Given the description of an element on the screen output the (x, y) to click on. 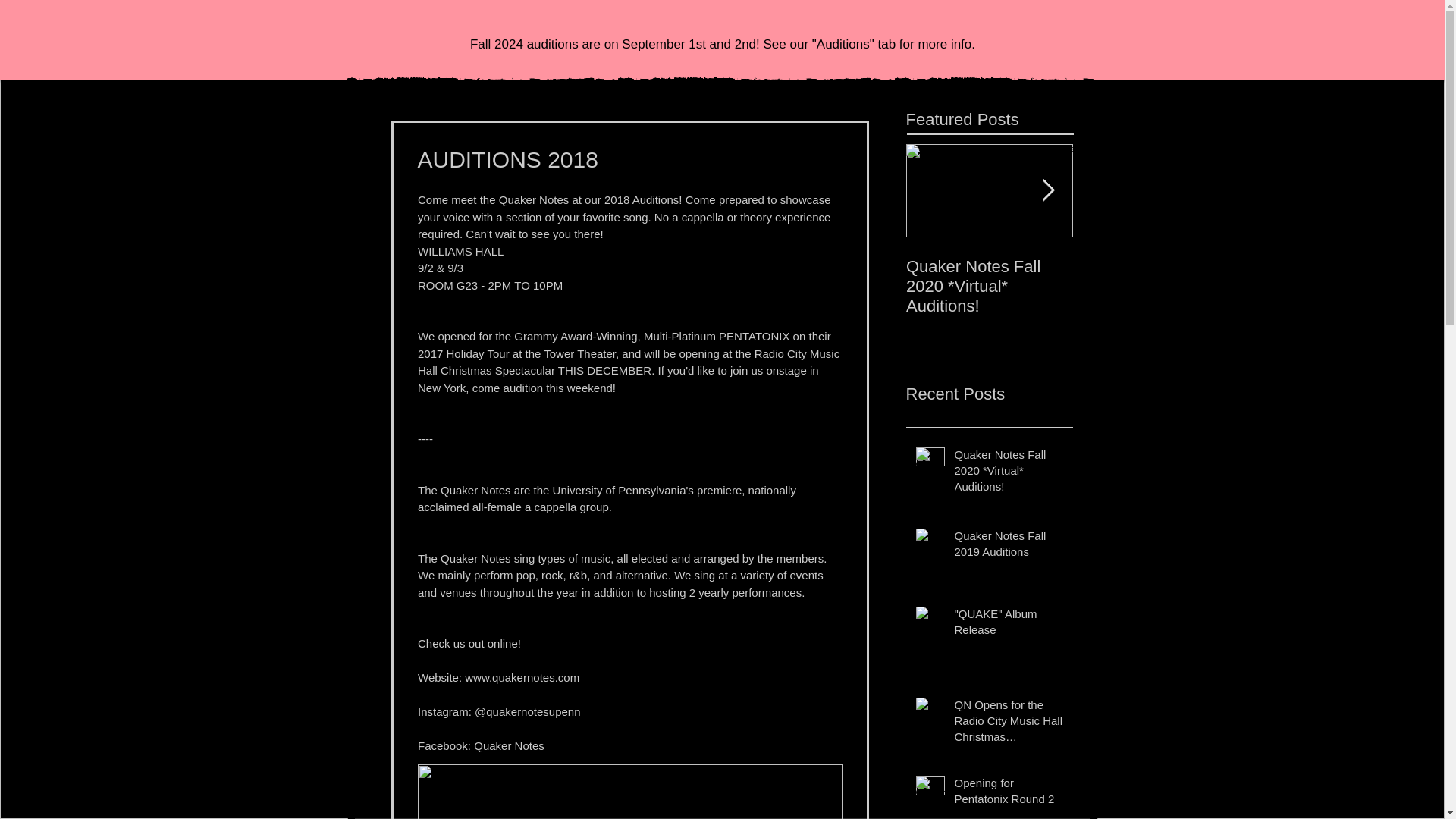
PENTATONIX OPENING (1155, 276)
"QUAKE" Album Release (1007, 624)
Opening for Pentatonix Round 2 (1007, 793)
QN Opens for the Radio City Music Hall Christmas Spectacular (1007, 723)
Quaker Notes Fall 2019 Auditions (1007, 546)
